Given the description of an element on the screen output the (x, y) to click on. 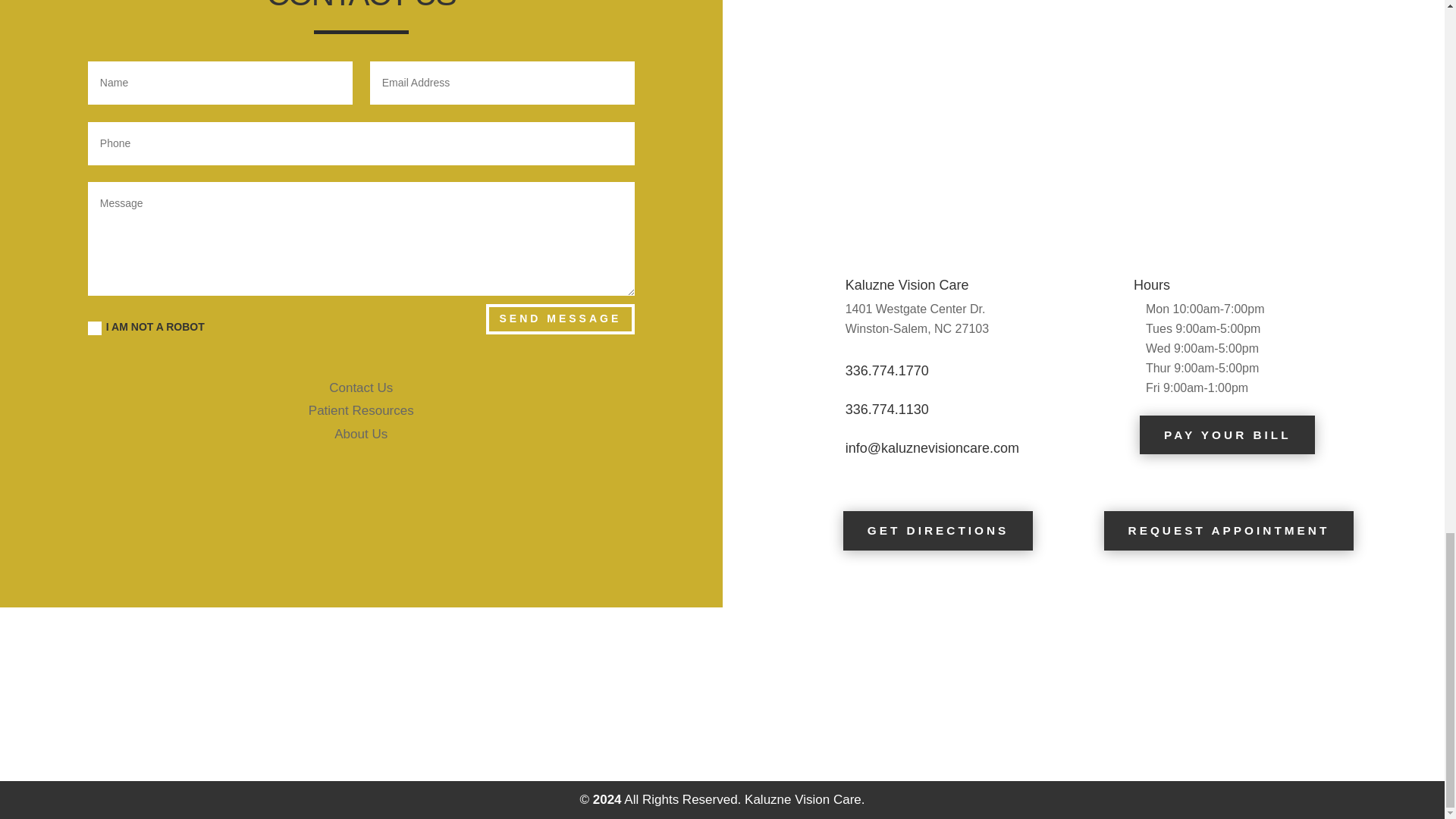
PAY YOUR BILL (1227, 434)
GET DIRECTIONS (937, 530)
SEND MESSAGE (559, 318)
REQUEST APPOINTMENT (1228, 530)
